Given the description of an element on the screen output the (x, y) to click on. 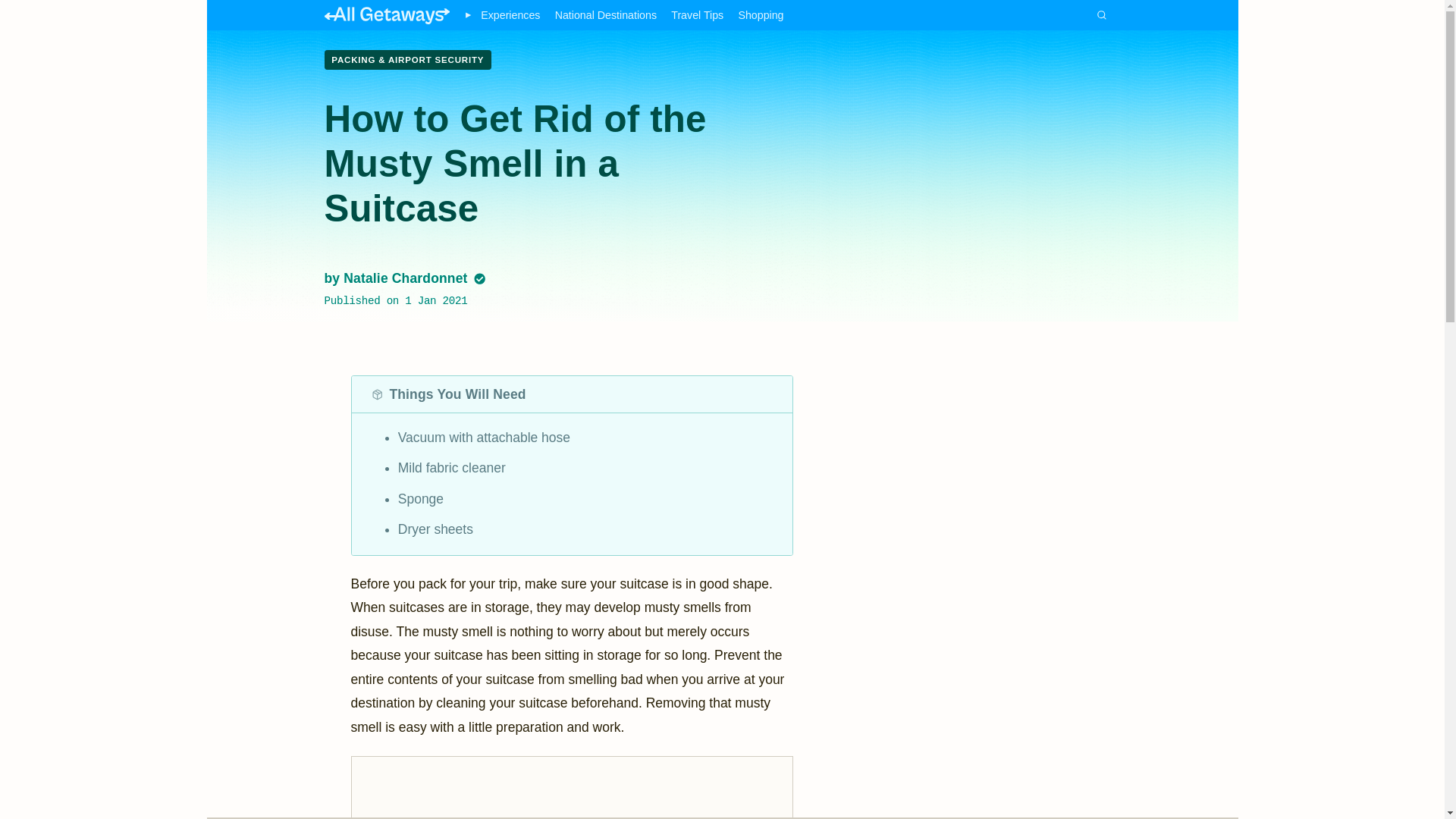
Travel Tips (697, 15)
Experiences (510, 15)
National Destinations (605, 15)
